Given the description of an element on the screen output the (x, y) to click on. 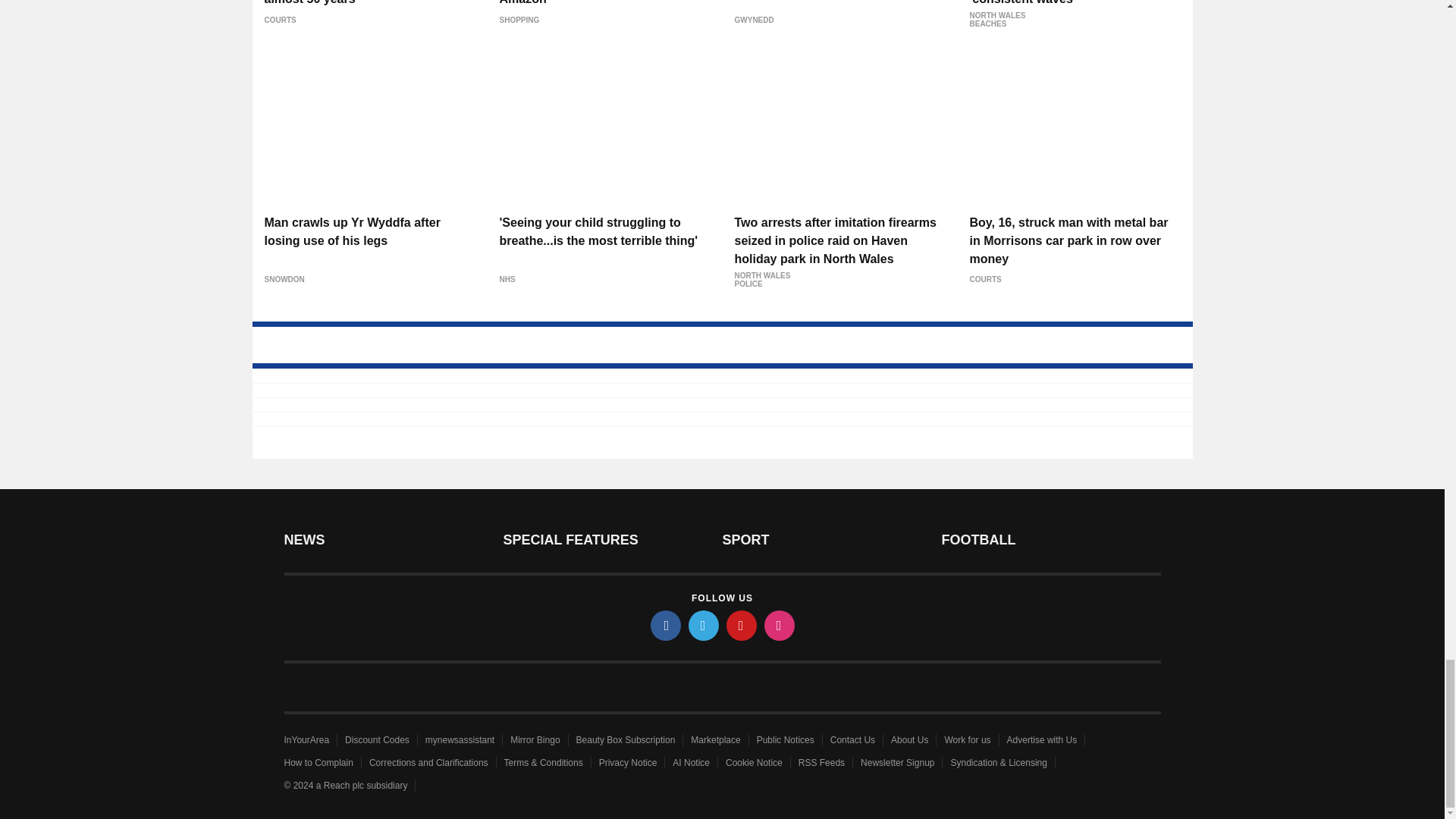
twitter (703, 625)
pinterest (741, 625)
instagram (779, 625)
facebook (665, 625)
